Given the description of an element on the screen output the (x, y) to click on. 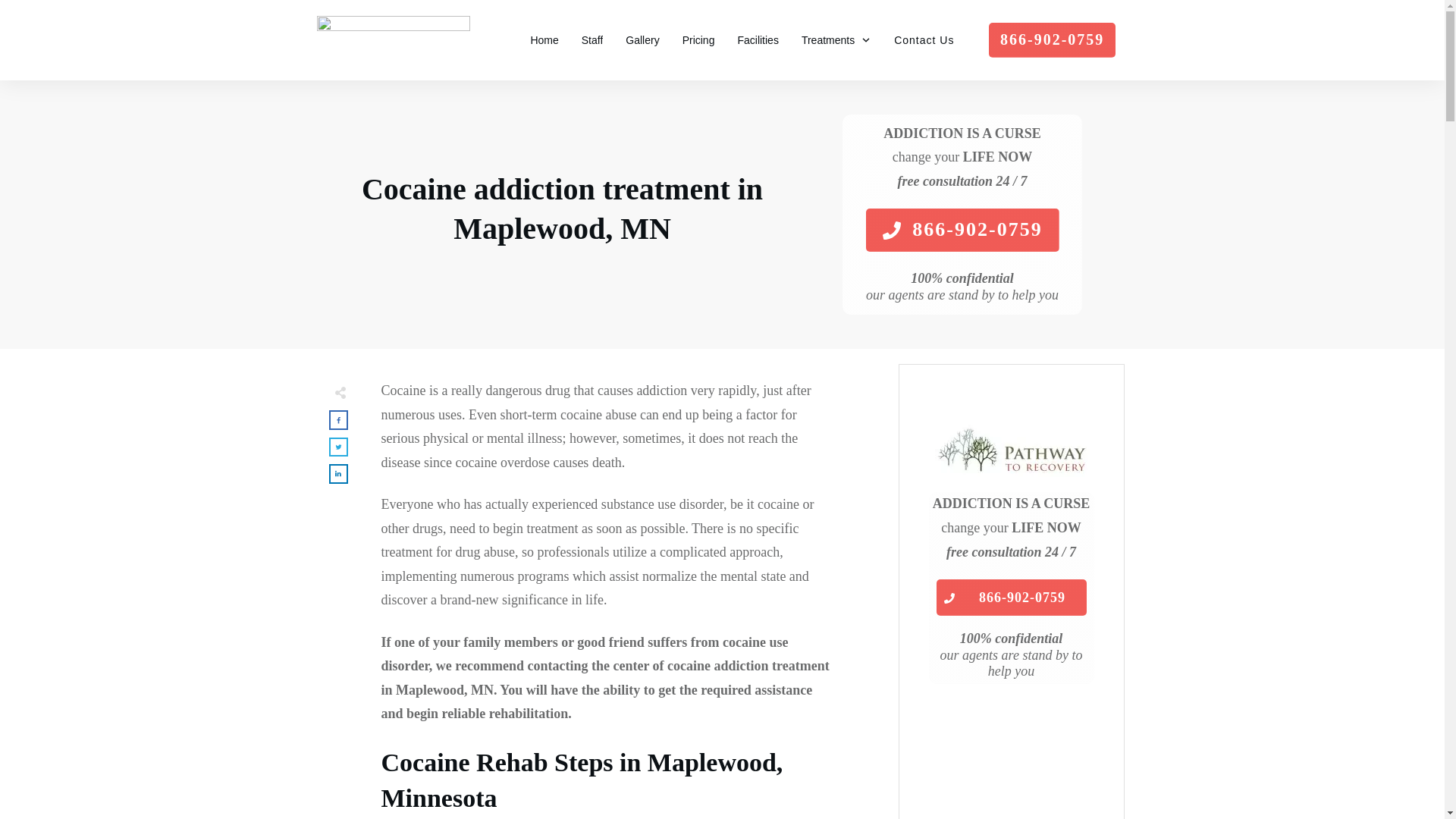
866-902-0759 (962, 229)
866-902-0759 (1011, 597)
Pricing (698, 39)
Contact Us (923, 39)
Staff (592, 39)
Gallery (642, 39)
Cocaine addiction treatment in Maplewood, MN (561, 208)
Facilities (756, 39)
Cocaine addiction treatment in Maplewood, MN (561, 208)
866-902-0759 (1051, 39)
Home (543, 39)
Treatments (836, 39)
